Given the description of an element on the screen output the (x, y) to click on. 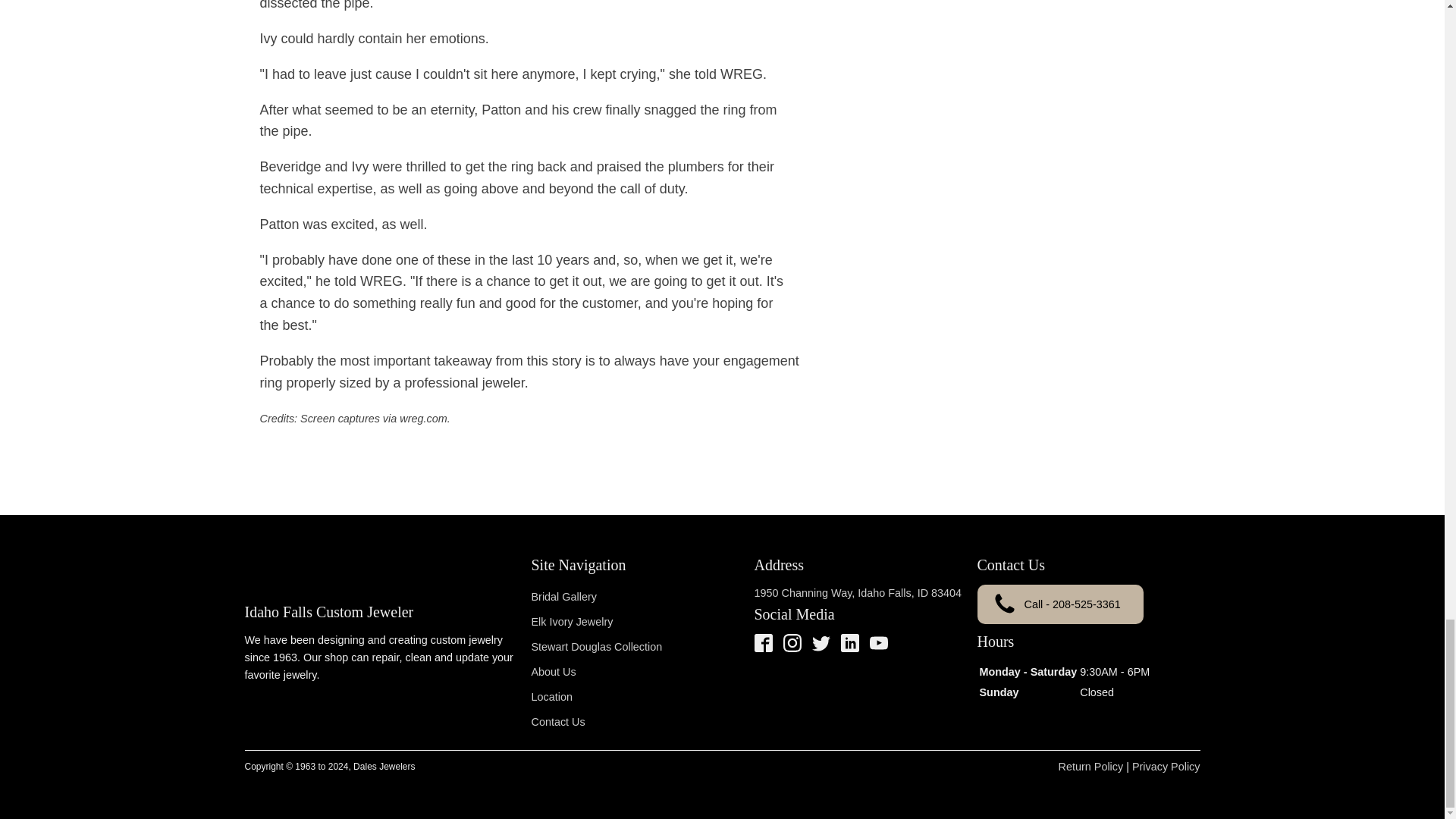
Call - 208-525-3361 (1059, 604)
About Us (598, 672)
Elk Ivory Jewelry (598, 621)
Privacy Policy (1165, 766)
Stewart Douglas Collection (598, 647)
1950 Channing Way, Idaho Falls, ID 83404 (857, 592)
Location (598, 697)
Return Policy (1091, 766)
Contact Us (598, 722)
Bridal Gallery (598, 596)
